Given the description of an element on the screen output the (x, y) to click on. 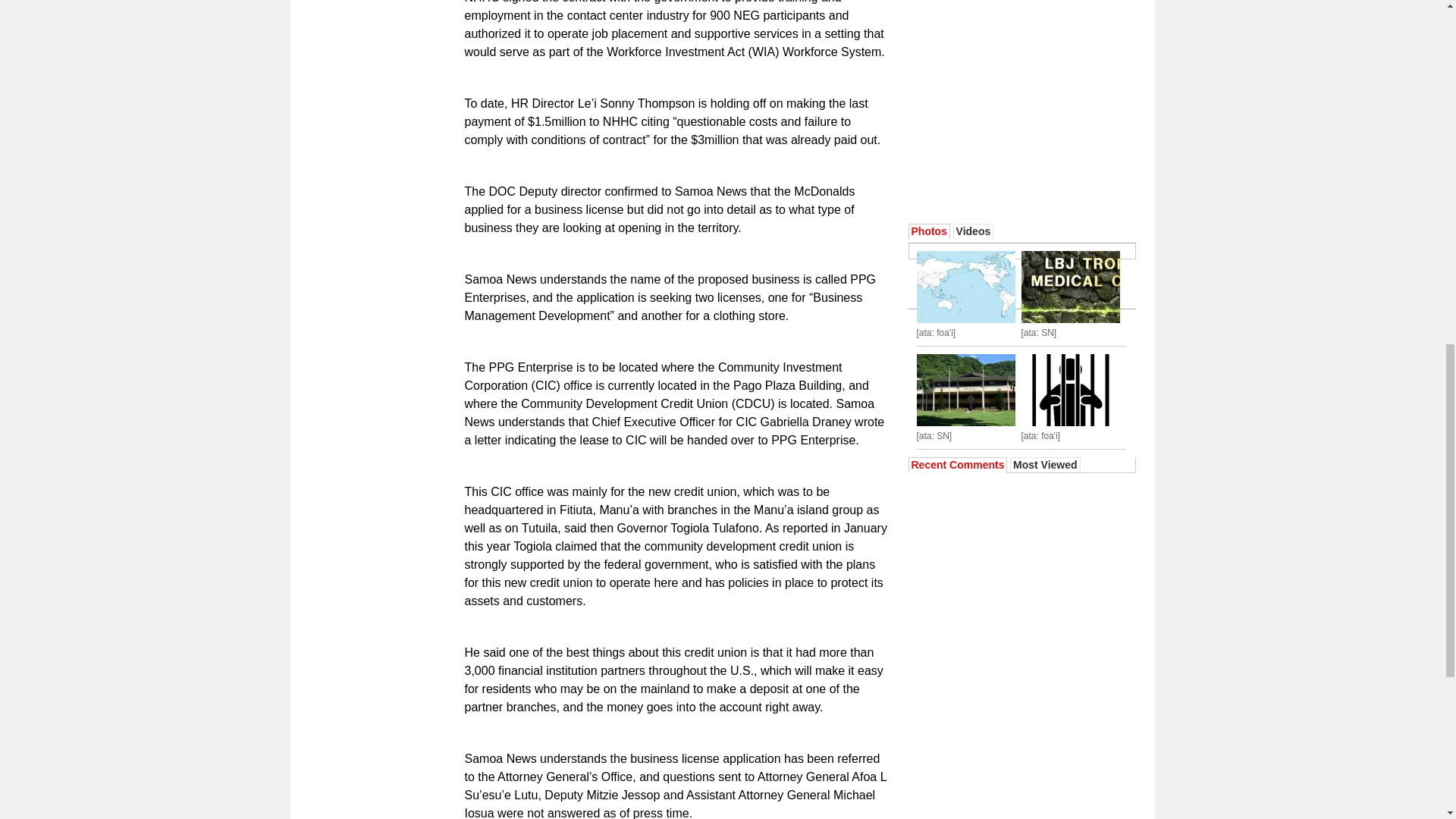
Most Viewed (1045, 464)
Recent Comments (957, 464)
Photos (929, 231)
Videos (973, 231)
